Given the description of an element on the screen output the (x, y) to click on. 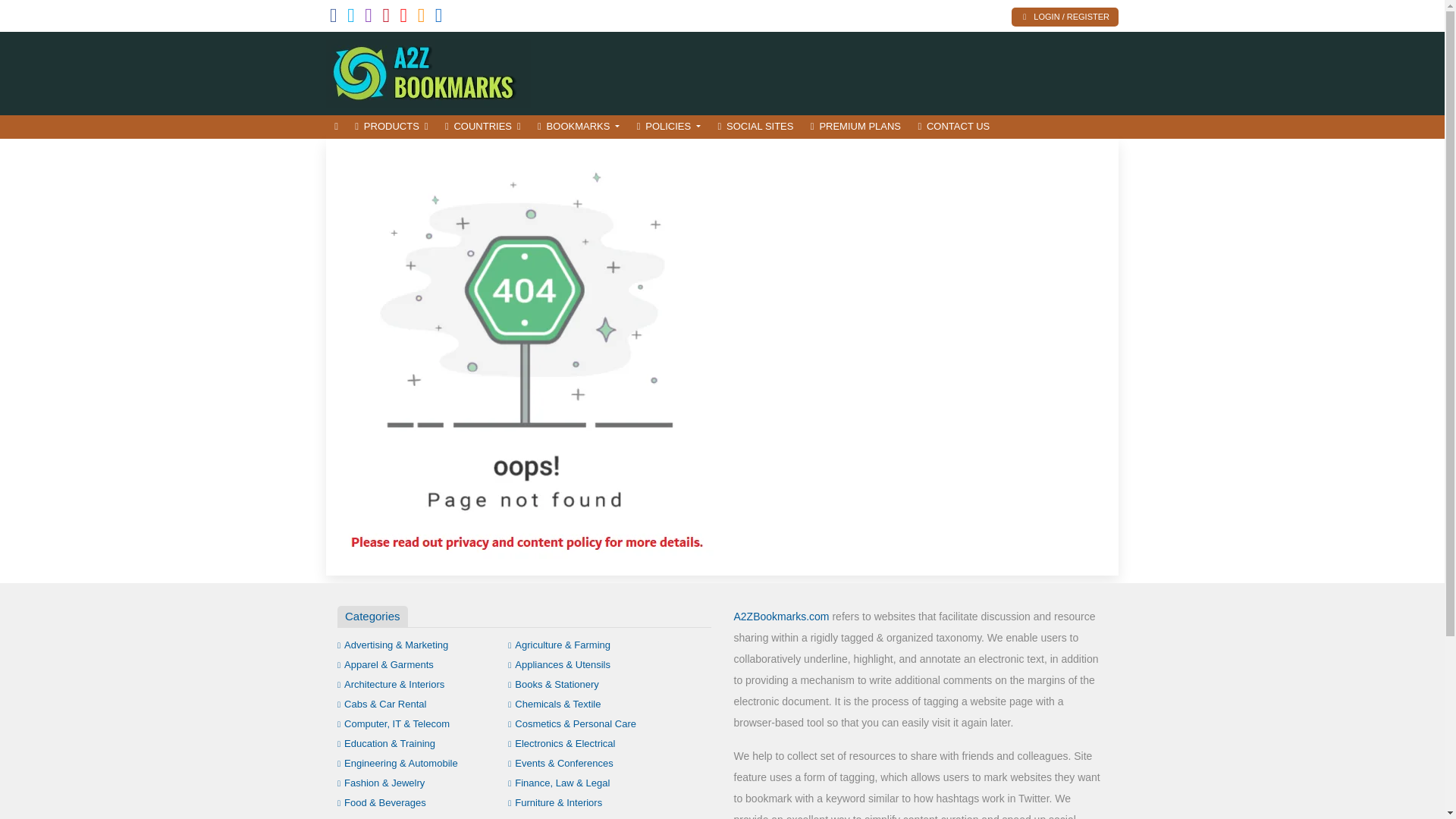
PRODUCTS (391, 126)
Internet Content Powered by Business Product Marketers (428, 71)
